Given the description of an element on the screen output the (x, y) to click on. 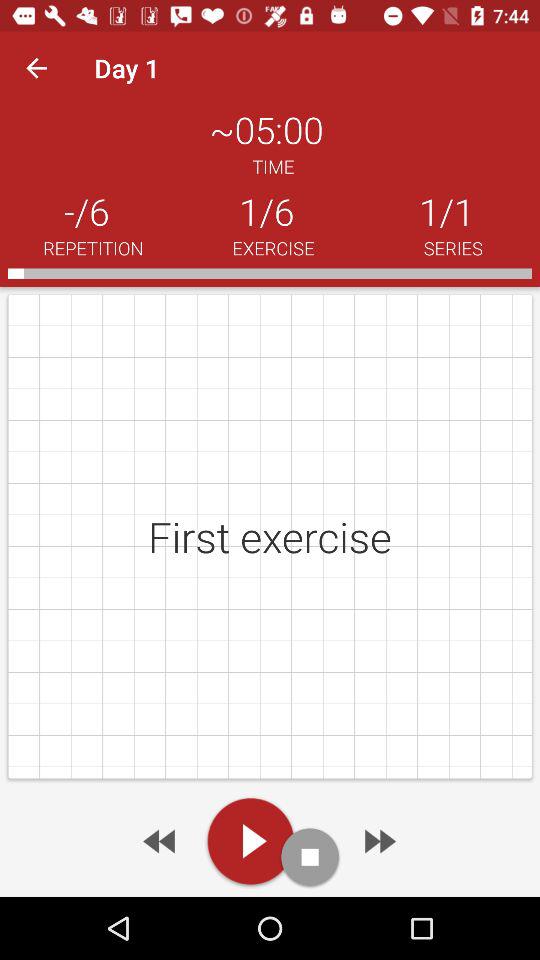
to play video (250, 841)
